Given the description of an element on the screen output the (x, y) to click on. 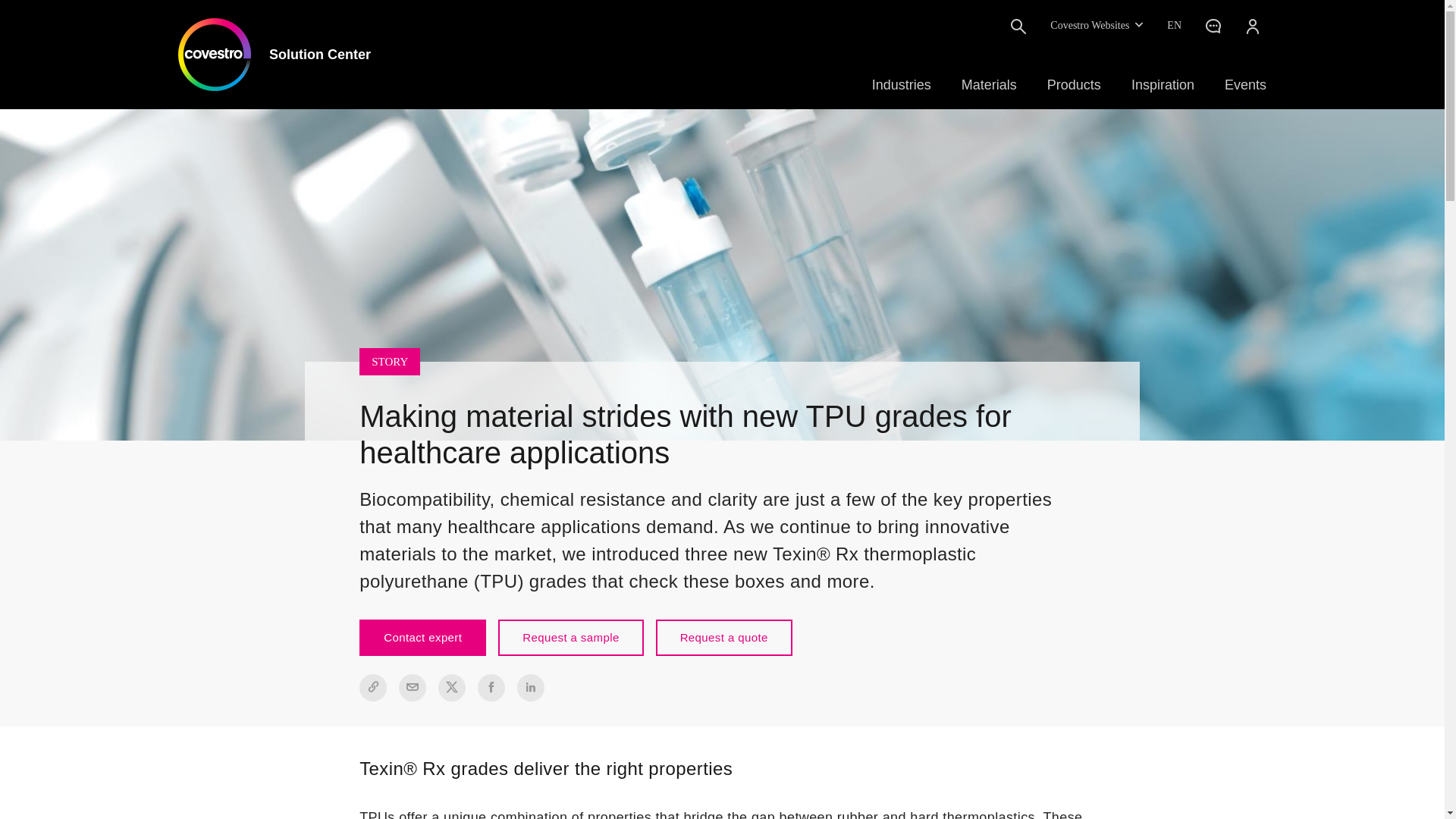
Materials (988, 85)
Solution Center (274, 54)
Products (1074, 85)
Industries (901, 85)
